Given the description of an element on the screen output the (x, y) to click on. 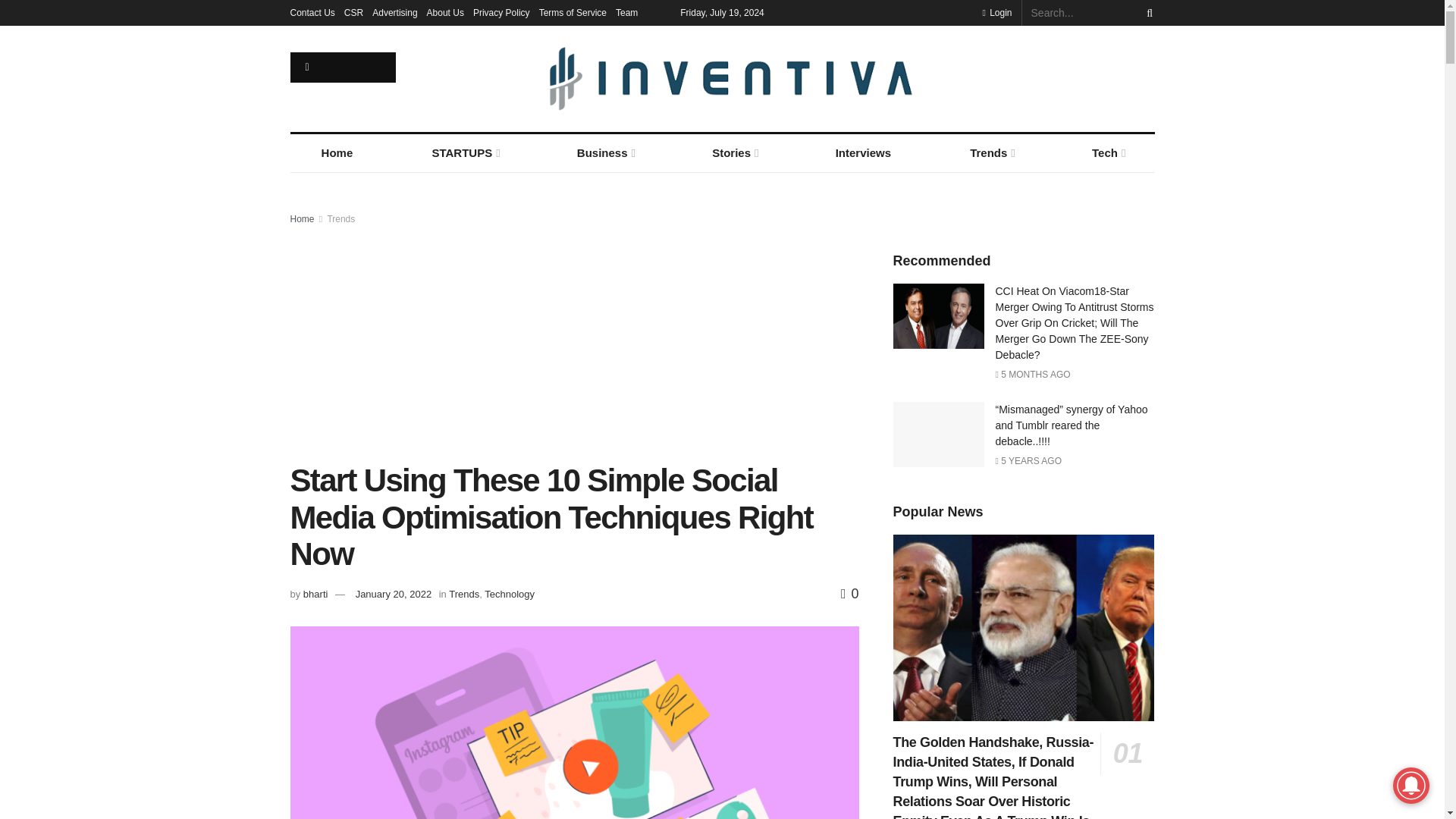
Login (996, 12)
Advertisement (574, 341)
STARTUPS (464, 152)
About Us (445, 12)
Privacy Policy (501, 12)
Contact Us (311, 12)
NEWSLETTER (342, 67)
Home (336, 152)
Terms of Service (572, 12)
Advertising (394, 12)
